Given the description of an element on the screen output the (x, y) to click on. 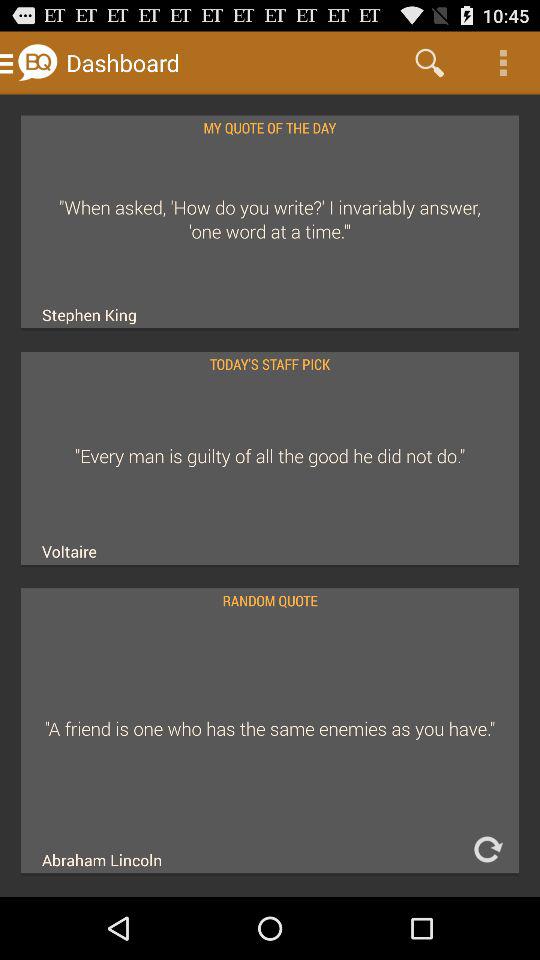
refresh the random quote (487, 849)
